Given the description of an element on the screen output the (x, y) to click on. 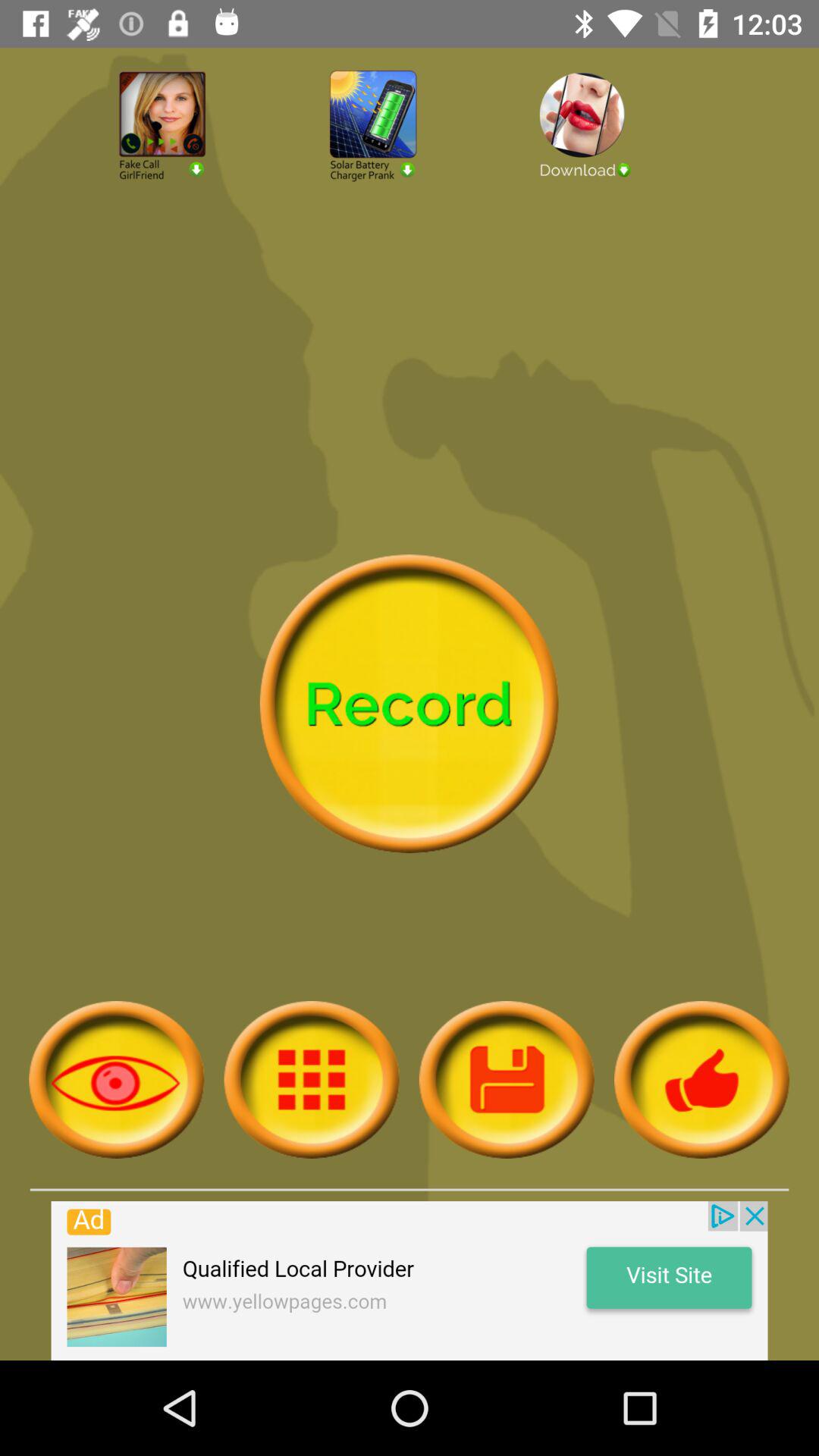
search command (116, 1079)
